Given the description of an element on the screen output the (x, y) to click on. 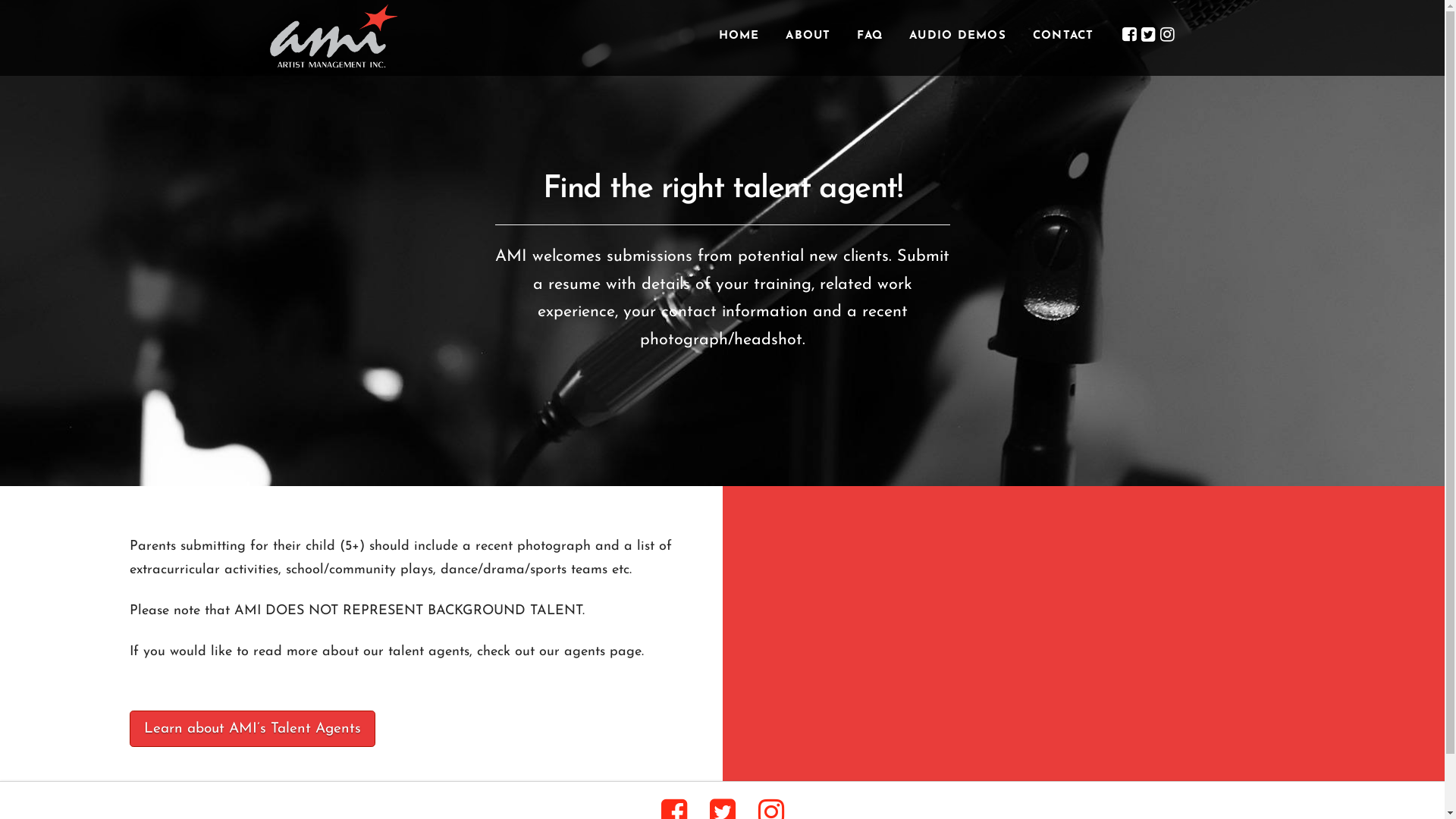
Managing Toronto's Top Talent for Television, Theatre & Film Element type: hover (332, 36)
ABOUT Element type: text (807, 37)
FAQ Element type: text (869, 37)
HOME Element type: text (738, 37)
CONTACT Element type: text (1063, 37)
AUDIO DEMOS Element type: text (957, 37)
